Given the description of an element on the screen output the (x, y) to click on. 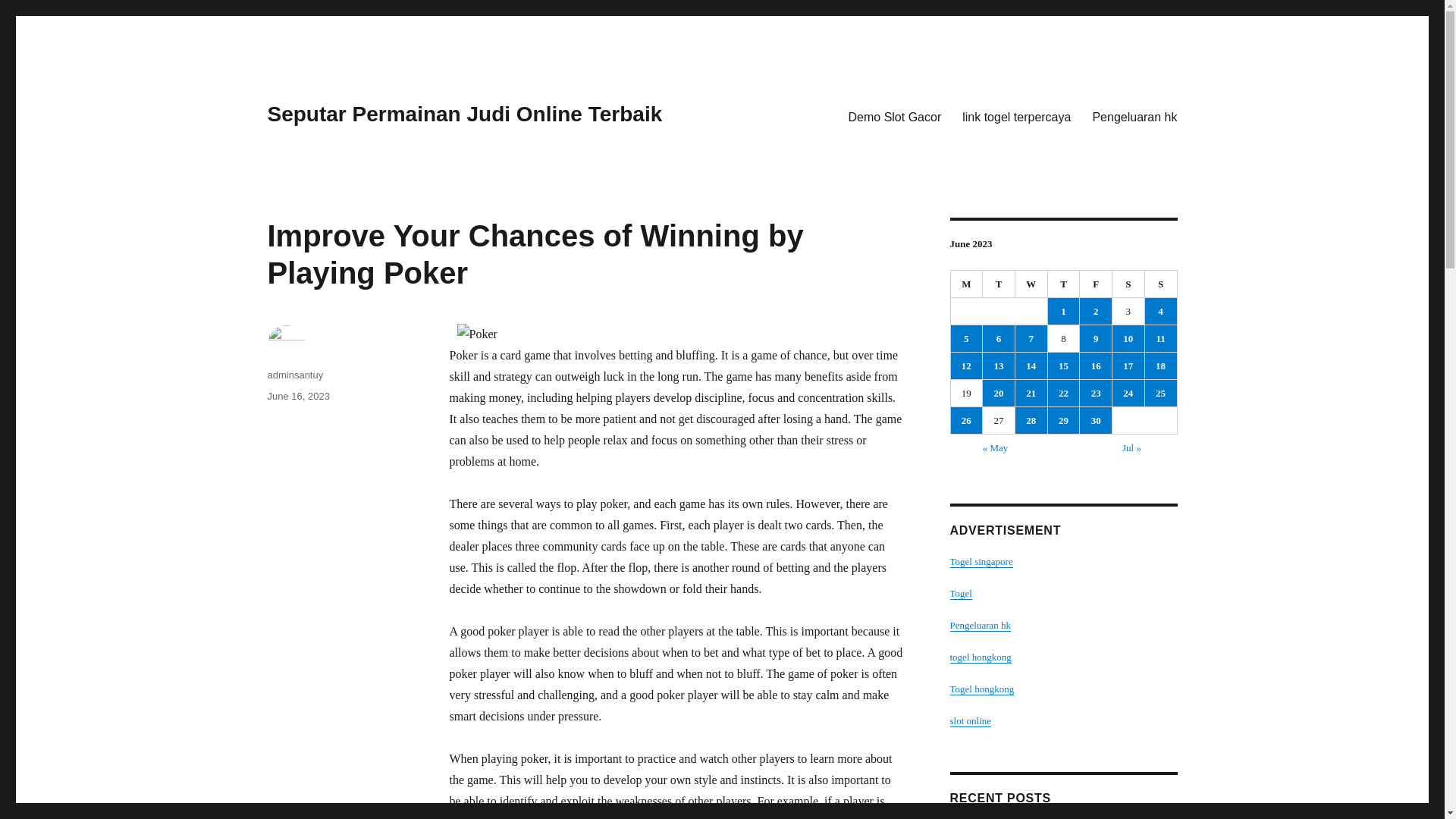
Sunday (1160, 284)
adminsantuy (294, 374)
Pengeluaran hk (1134, 116)
Thursday (1064, 284)
Wednesday (1031, 284)
link togel terpercaya (1016, 116)
June 16, 2023 (297, 396)
Saturday (1128, 284)
Friday (1096, 284)
Tuesday (998, 284)
